Given the description of an element on the screen output the (x, y) to click on. 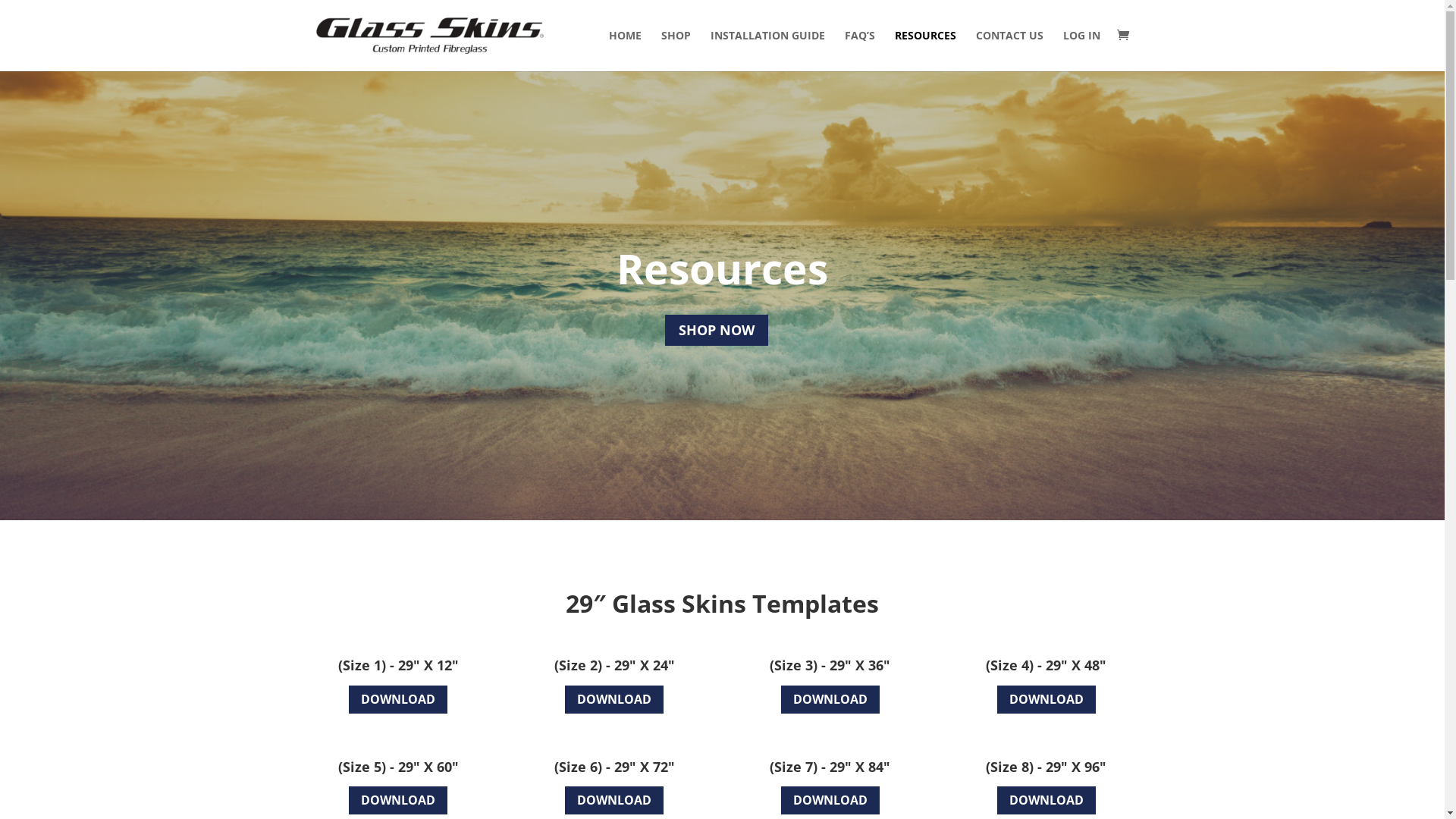
HOME Element type: text (624, 50)
SHOP NOW Element type: text (716, 329)
DOWNLOAD Element type: text (830, 699)
CONTACT US Element type: text (1008, 50)
INSTALLATION GUIDE Element type: text (766, 50)
DOWNLOAD Element type: text (1046, 699)
DOWNLOAD Element type: text (397, 800)
RESOURCES Element type: text (925, 50)
SHOP Element type: text (675, 50)
DOWNLOAD Element type: text (1046, 800)
DOWNLOAD Element type: text (613, 699)
DOWNLOAD Element type: text (397, 699)
LOG IN Element type: text (1081, 50)
DOWNLOAD Element type: text (830, 800)
DOWNLOAD Element type: text (613, 800)
